Given the description of an element on the screen output the (x, y) to click on. 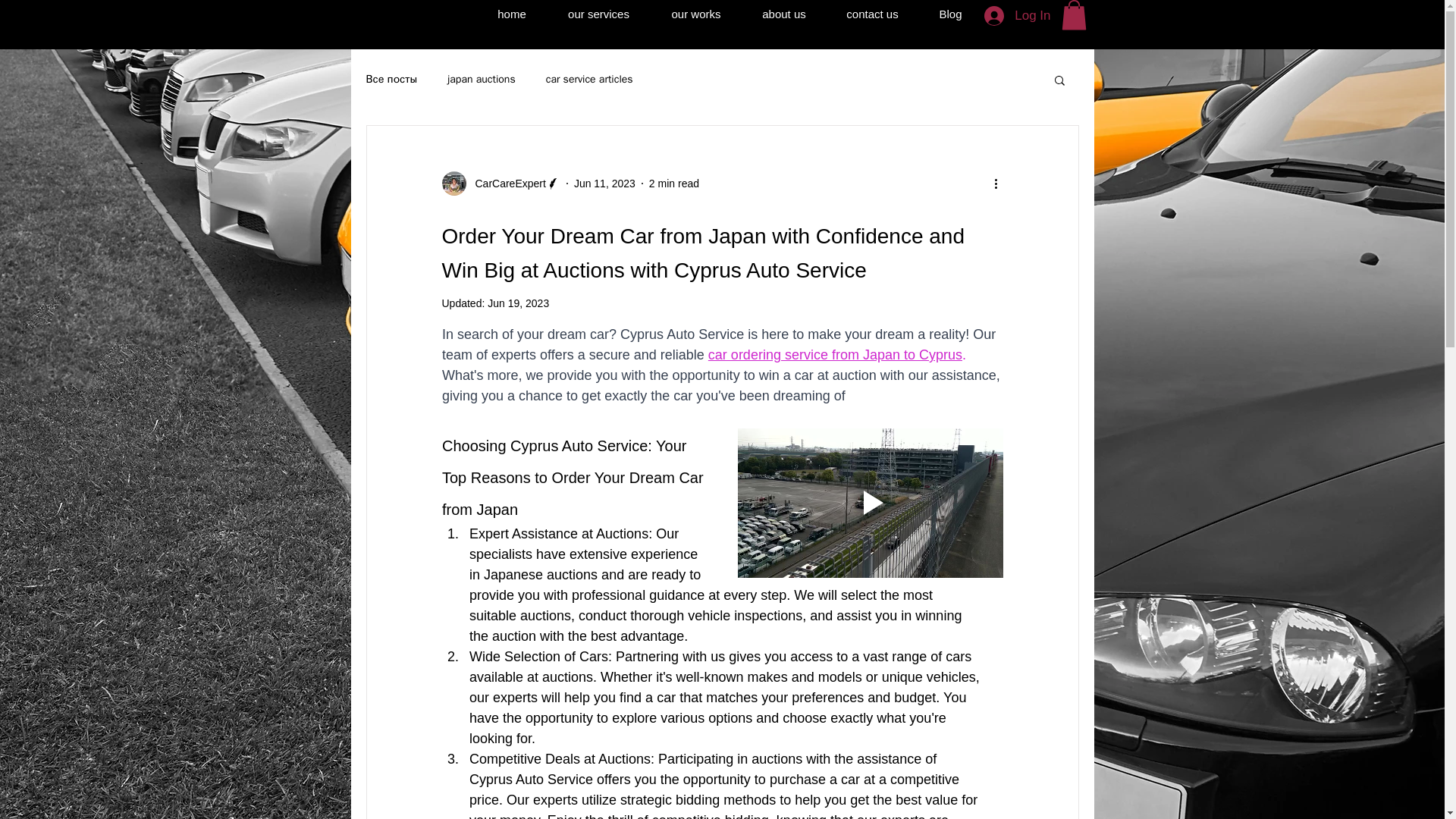
car service articles (589, 79)
our services (598, 13)
our works (696, 13)
contact us (872, 13)
car ordering service from Japan to Cyprus (833, 354)
Jun 19, 2023 (517, 303)
Jun 11, 2023 (603, 183)
Log In (1017, 15)
2 min read (673, 183)
japan auctions (480, 79)
